Given the description of an element on the screen output the (x, y) to click on. 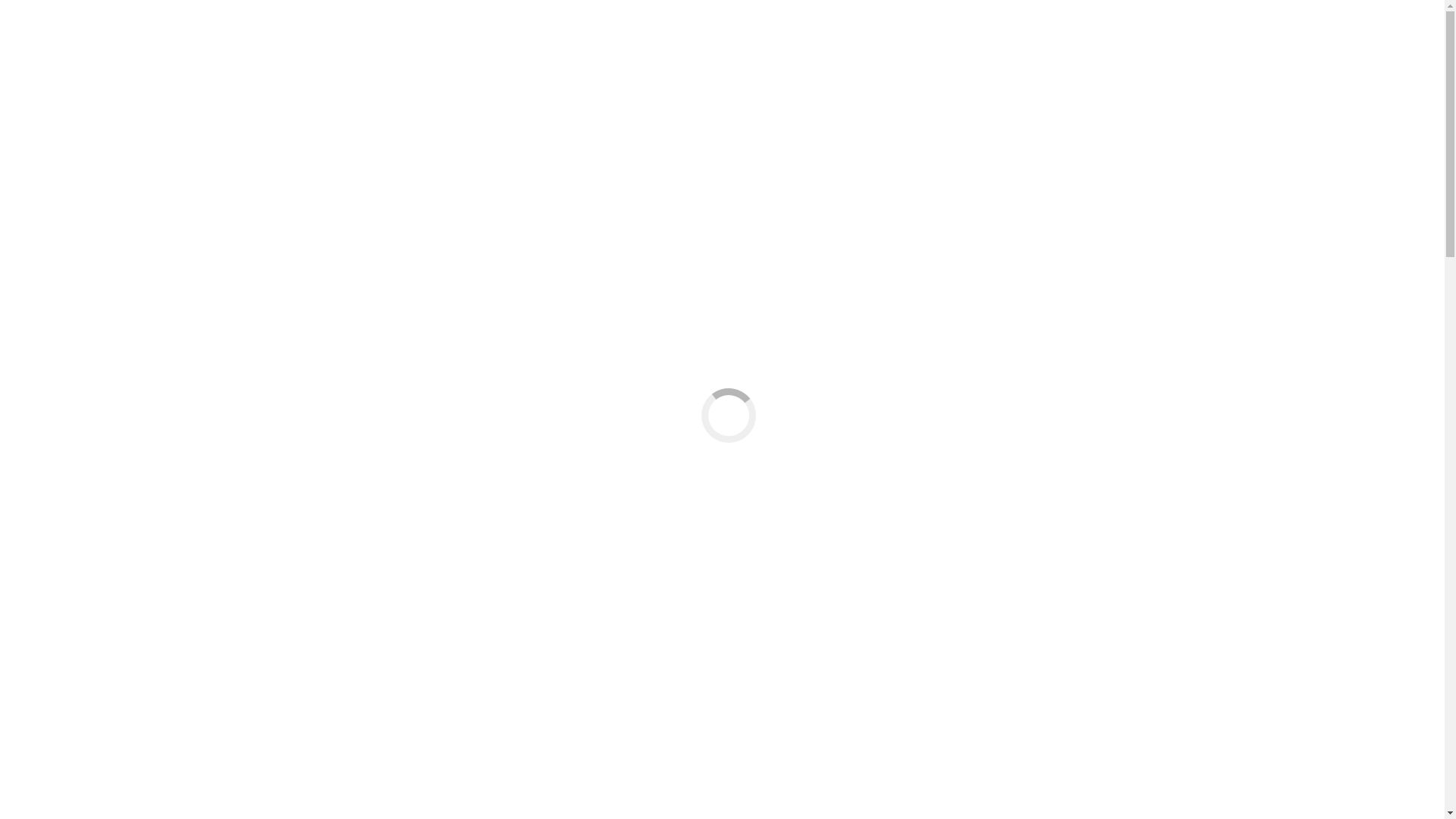
Hoflieferanten Element type: text (101, 580)
Jobs Element type: text (46, 744)
Newsletter Element type: text (92, 512)
Tschebull Element type: text (59, 608)
Umgebung Element type: text (93, 621)
Whatsapp Element type: text (160, 770)
News Element type: text (49, 498)
Unsere Gastrofreunde Element type: text (150, 662)
Feiern Element type: text (51, 703)
Zum Inhalt springen Element type: text (55, 12)
Speisekarte Element type: text (94, 539)
Reservieren Element type: text (95, 690)
Hausgemachtes Element type: text (104, 567)
Unsere Ausflugtipps Element type: text (146, 649)
Bei Ihnen (Catering) Element type: text (116, 730)
office@tschebull.cc Element type: text (303, 25)
Manifest Element type: text (87, 676)
Instagram Element type: text (77, 770)
+43 (0)4254 2191 Element type: text (50, 472)
E-Mail Element type: text (118, 770)
YouTube Element type: text (207, 770)
Newsletter Element type: text (92, 810)
Essen&Trinken Element type: text (74, 526)
News Element type: text (49, 796)
Facebook Element type: text (29, 770)
Bei Uns Element type: text (86, 717)
Unsere Hotelpartner Element type: text (146, 635)
